Given the description of an element on the screen output the (x, y) to click on. 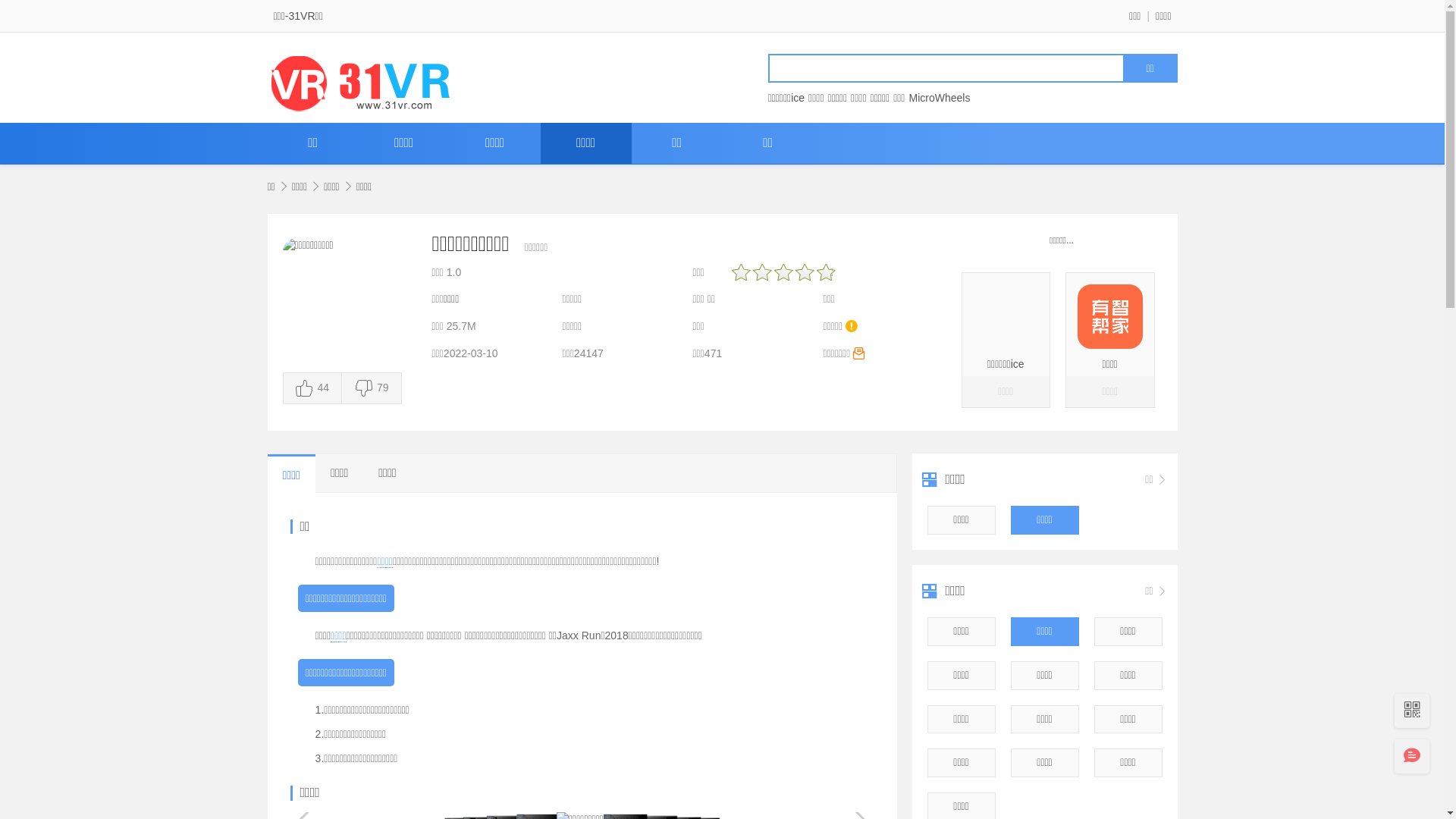
MicroWheels Element type: text (938, 97)
